Given the description of an element on the screen output the (x, y) to click on. 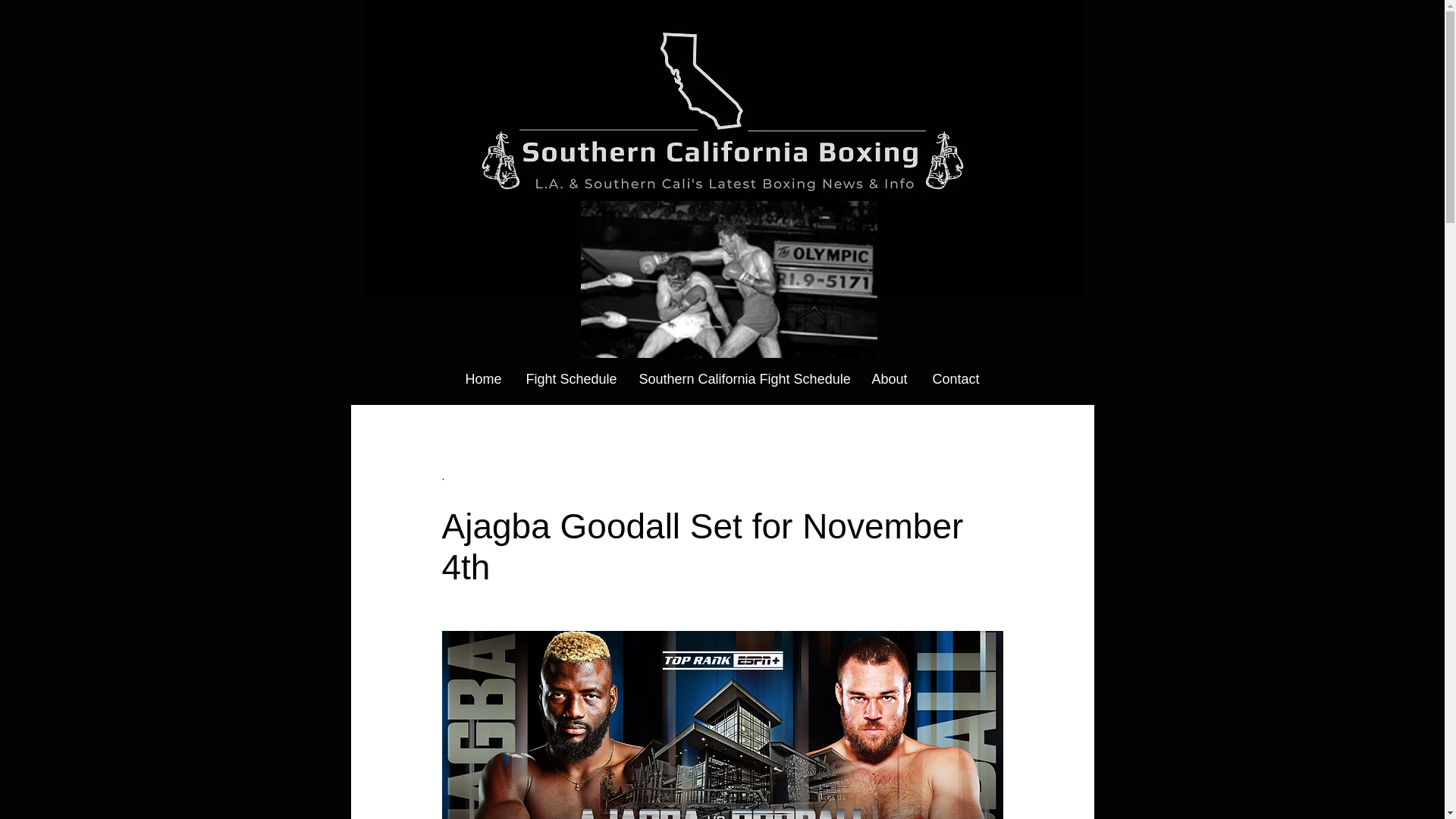
Contact (955, 378)
Home (482, 378)
Fight Schedule (570, 378)
About (889, 378)
Southern California Fight Schedule (743, 378)
